Given the description of an element on the screen output the (x, y) to click on. 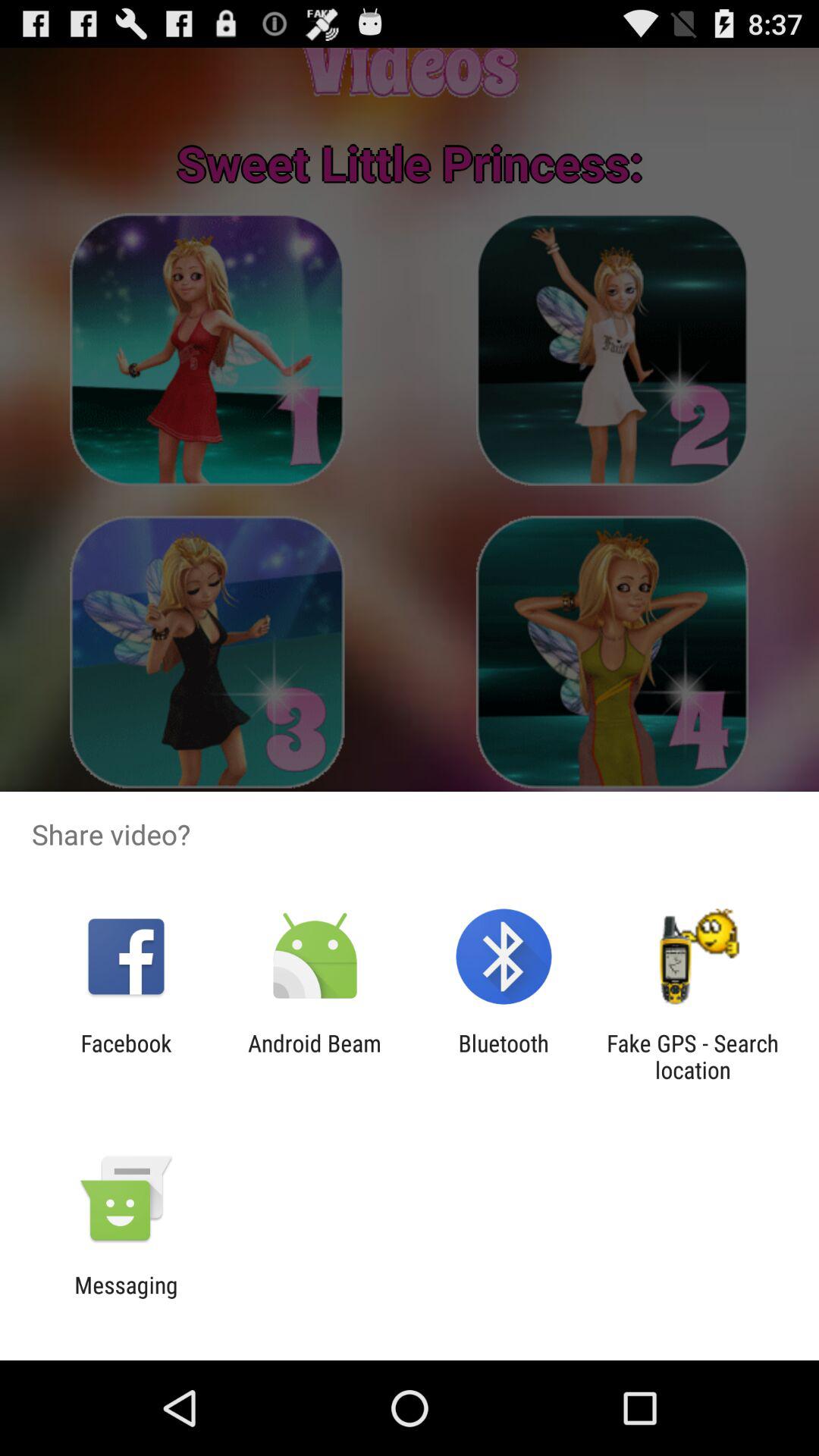
launch android beam app (314, 1056)
